Given the description of an element on the screen output the (x, y) to click on. 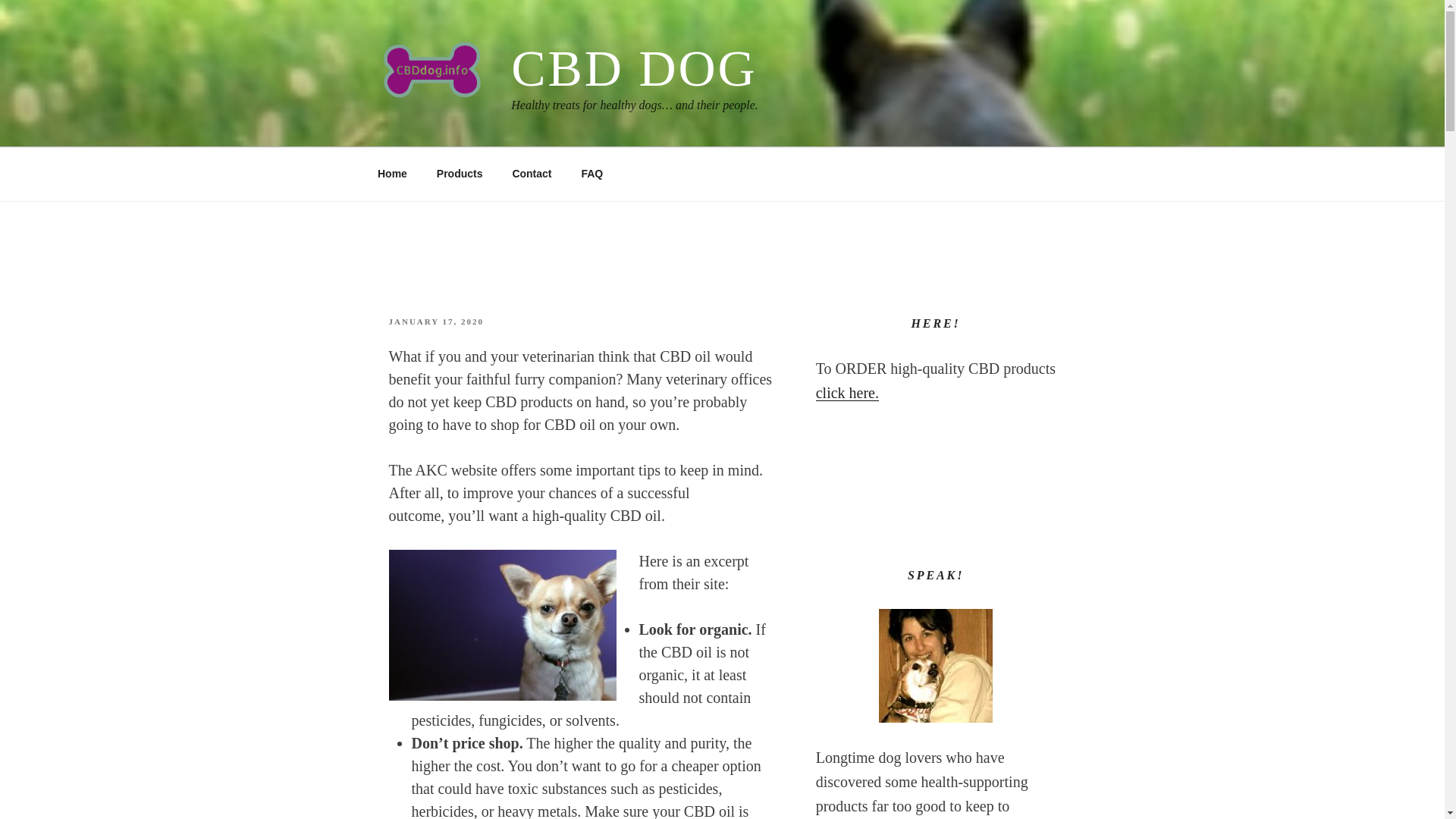
CBD DOG (634, 68)
Home (392, 173)
JANUARY 17, 2020 (435, 320)
Products (459, 173)
FAQ (591, 173)
Contact (531, 173)
click here. (847, 392)
